Given the description of an element on the screen output the (x, y) to click on. 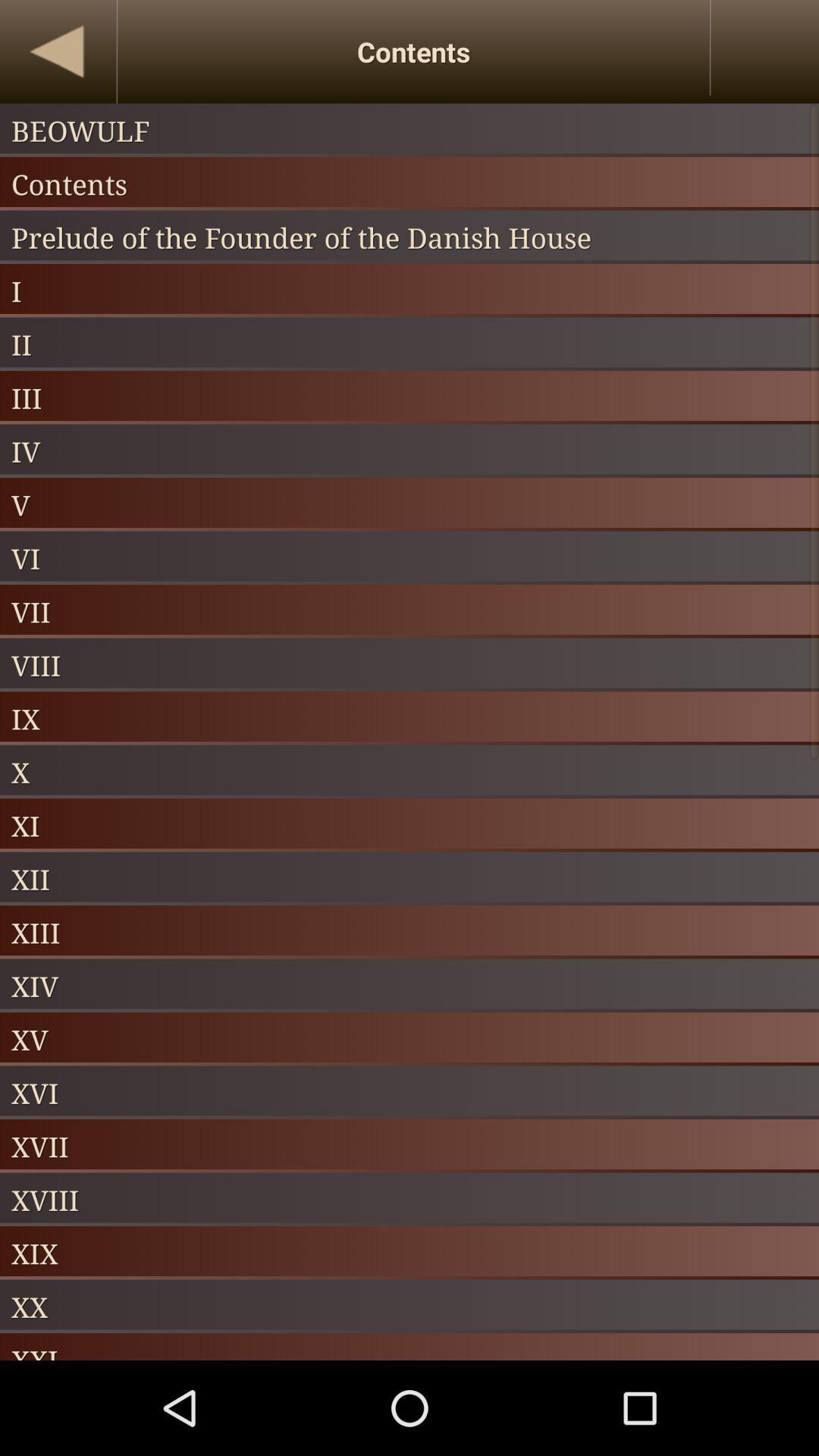
click the item above the beowulf icon (58, 51)
